Given the description of an element on the screen output the (x, y) to click on. 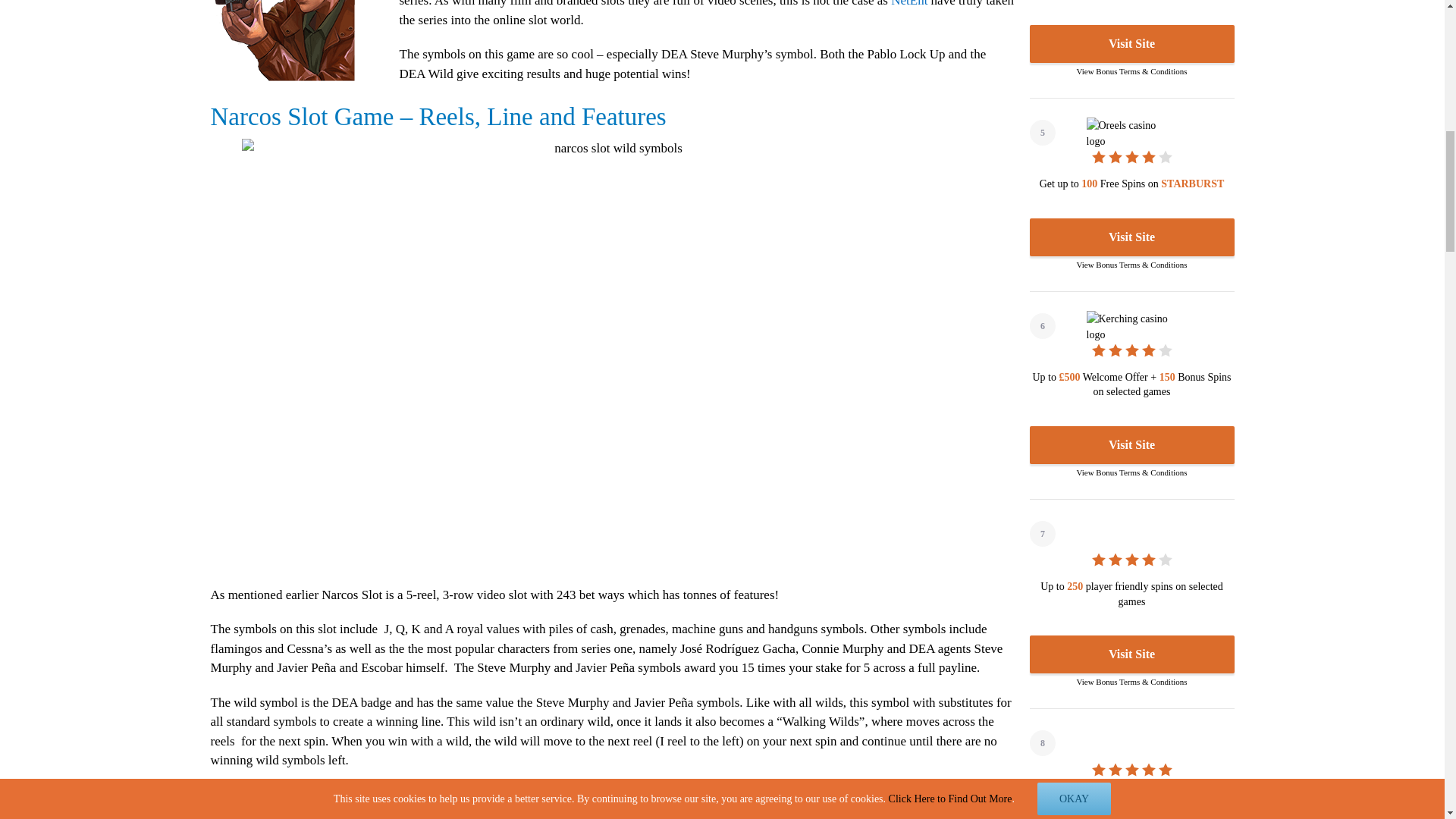
NetEnt (909, 3)
